Given the description of an element on the screen output the (x, y) to click on. 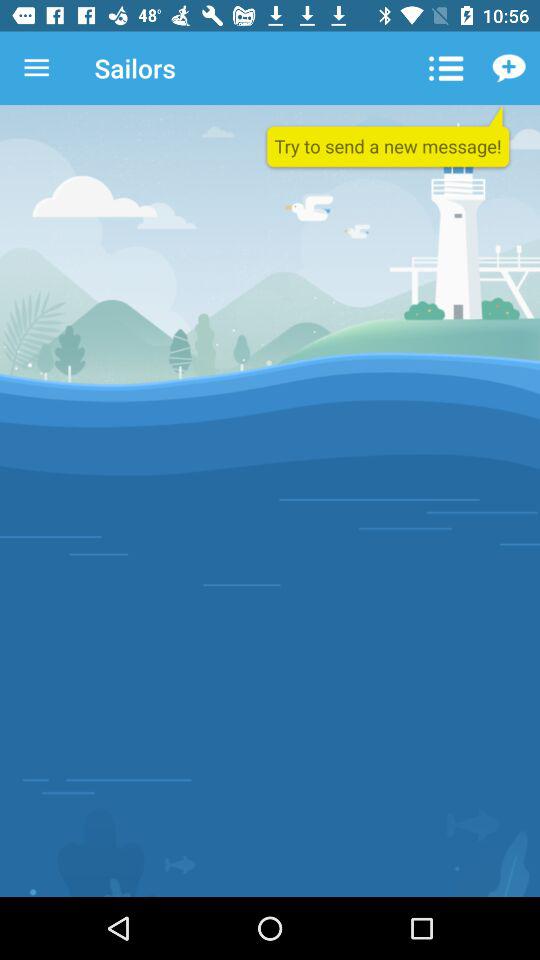
select the icon to the right of sailors (444, 67)
